Given the description of an element on the screen output the (x, y) to click on. 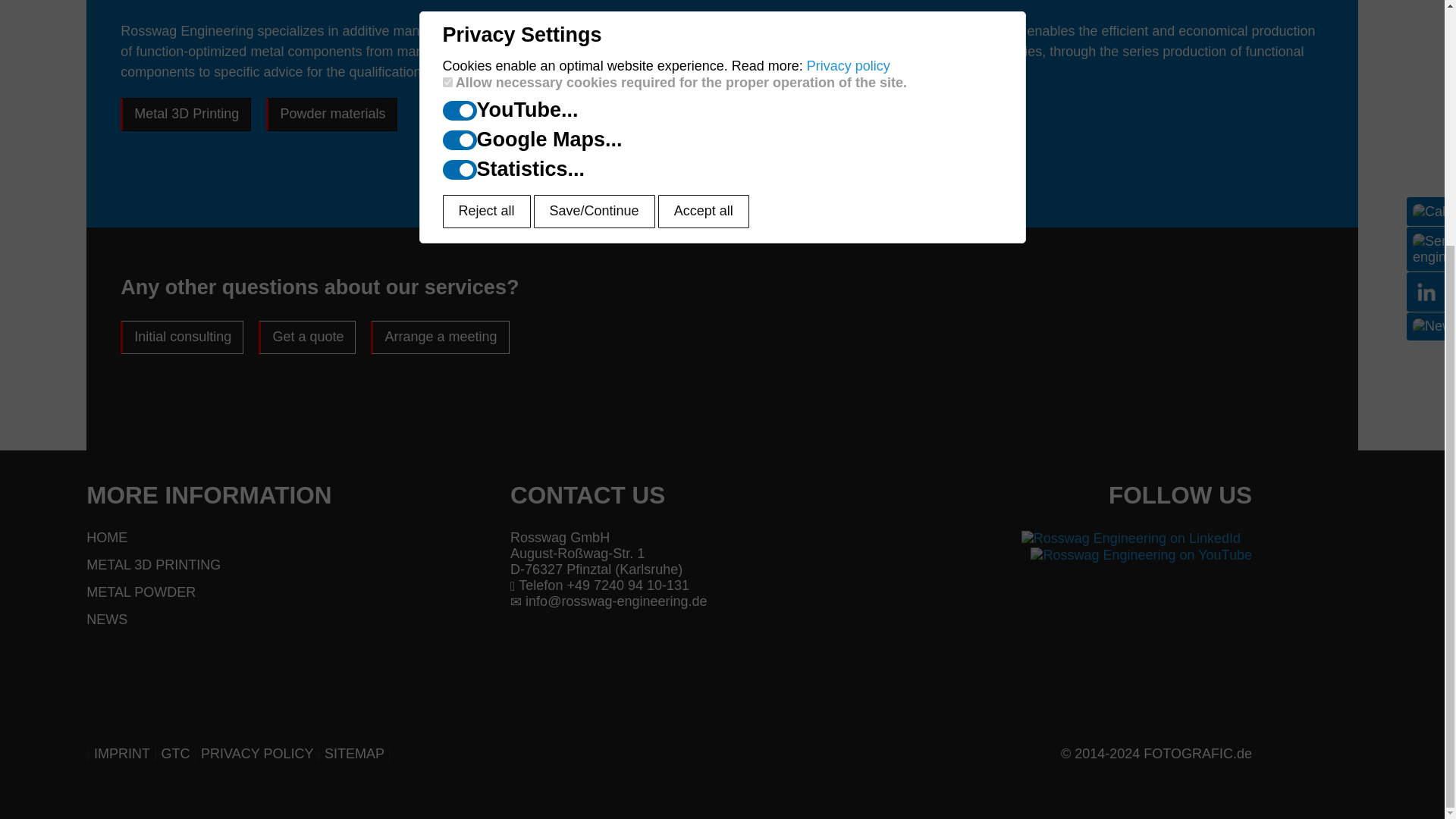
Privacy Policy (256, 753)
News (298, 619)
GTC (174, 753)
Werbeagentur (1156, 753)
Metal Powder (298, 592)
Sitemap (354, 753)
We are ready!  (721, 236)
Imprint (121, 753)
Metal 3D Printing (298, 565)
Home (298, 537)
